Given the description of an element on the screen output the (x, y) to click on. 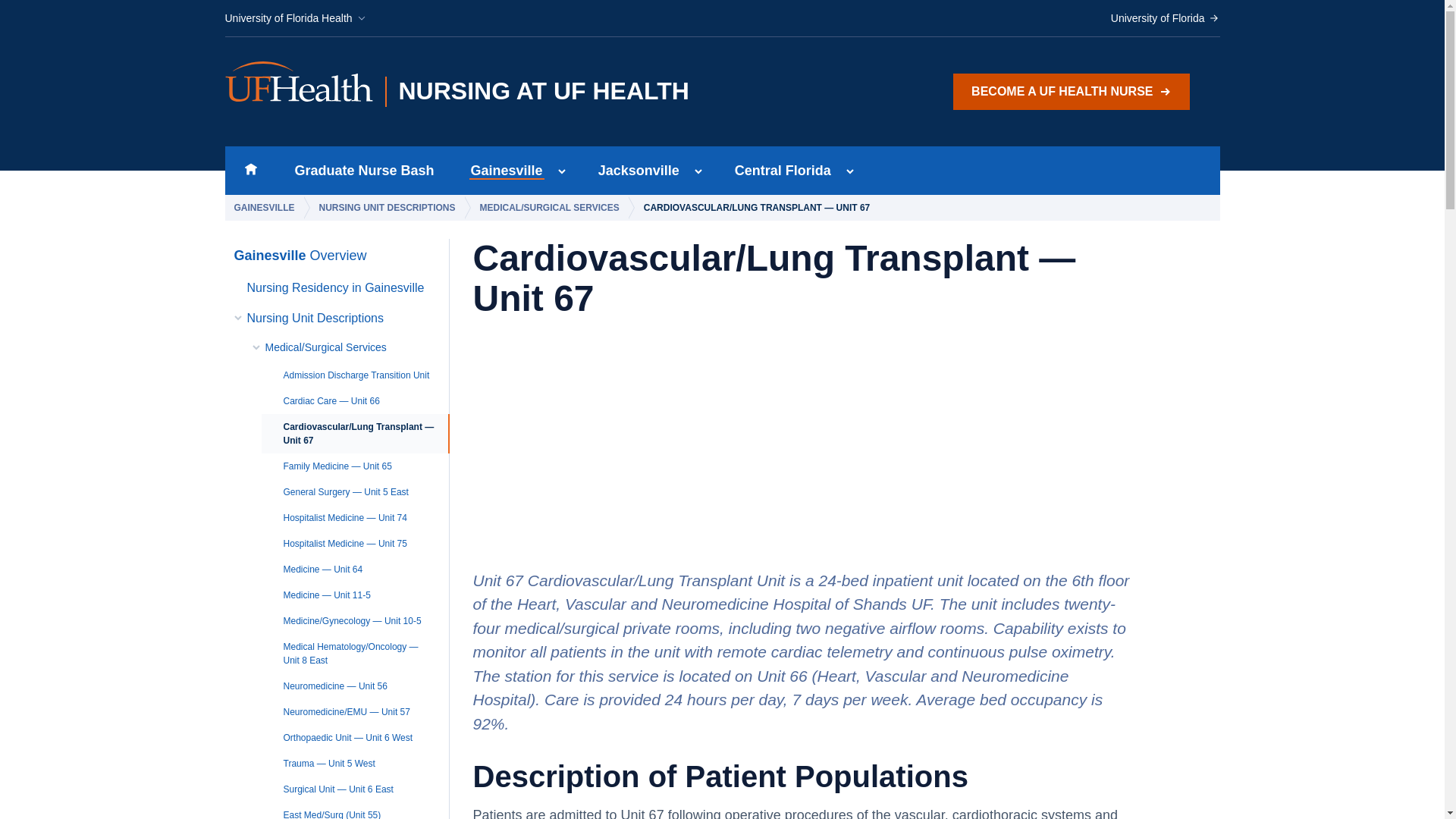
Graduate Nurse Bash (363, 170)
University of Florida Health (295, 18)
University of Florida (1165, 18)
NURSING AT UF HEALTH (501, 170)
Home (515, 91)
Jacksonville (250, 170)
Skip to main content (633, 170)
